Given the description of an element on the screen output the (x, y) to click on. 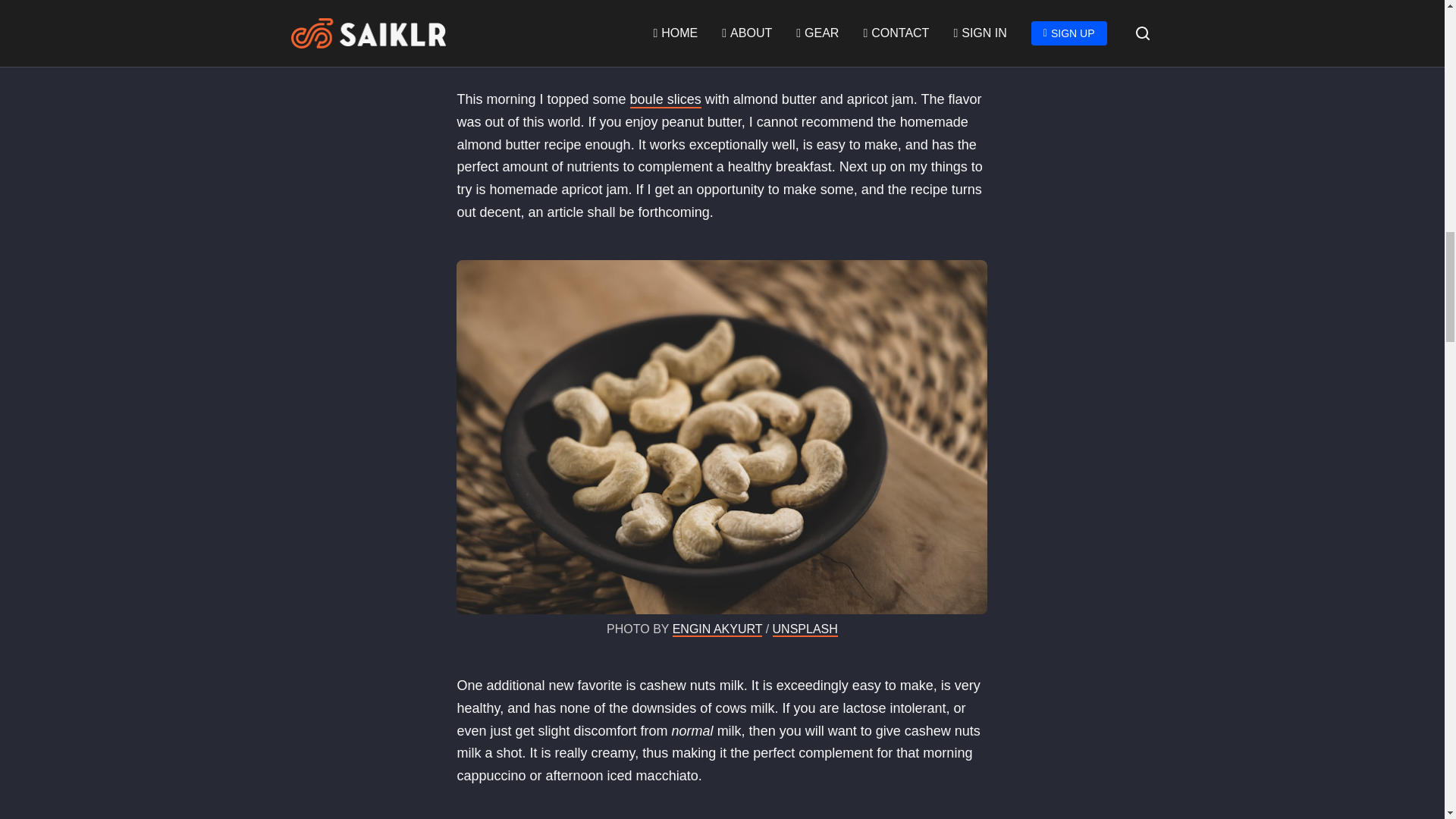
UNSPLASH (805, 629)
boule slices (665, 99)
ENGIN AKYURT (717, 629)
